Given the description of an element on the screen output the (x, y) to click on. 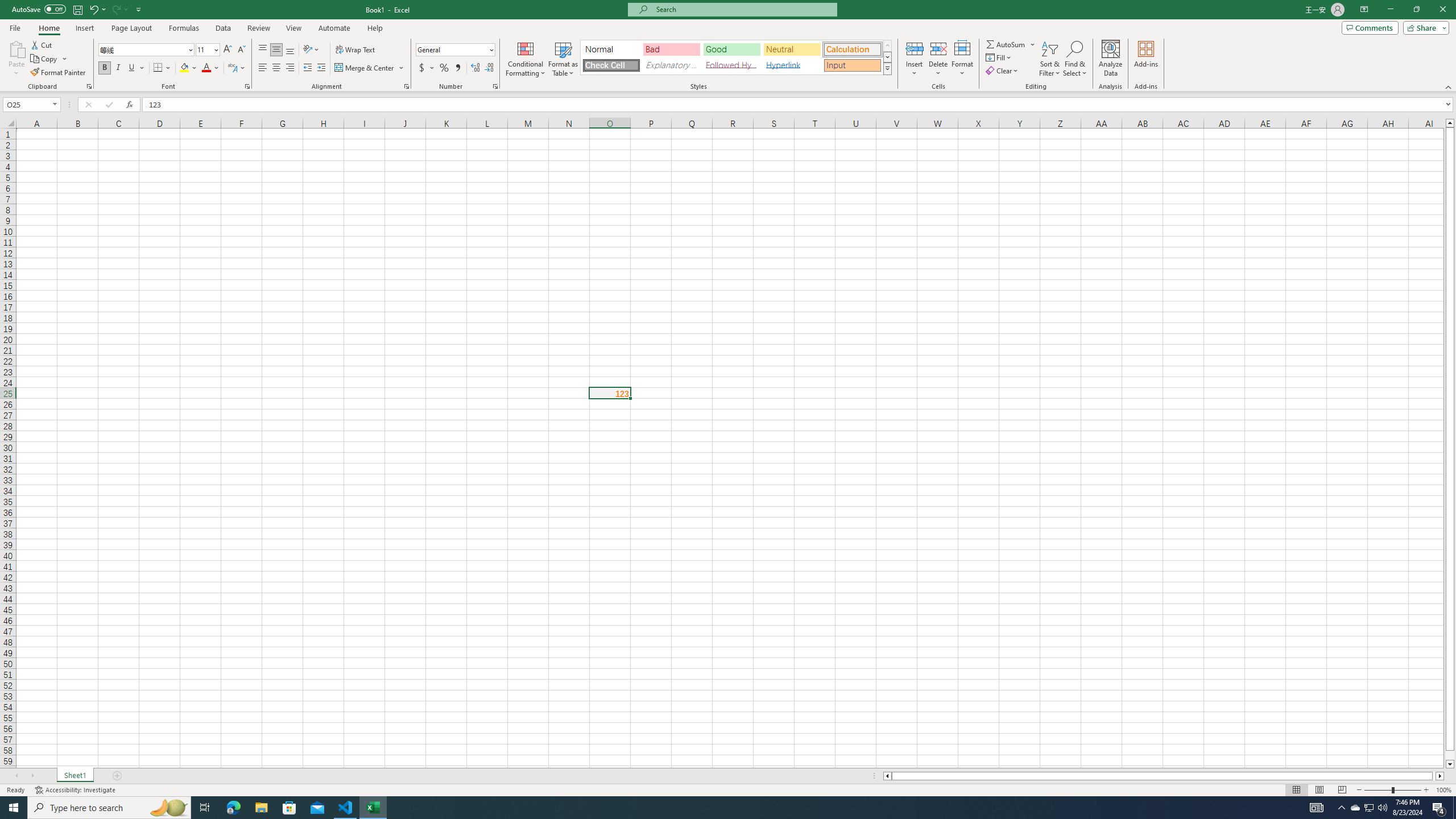
Font Size (204, 49)
Followed Hyperlink (731, 65)
Bold (104, 67)
Copy (45, 58)
Calculation (852, 49)
Borders (162, 67)
Middle Align (276, 49)
Conditional Formatting (525, 58)
Wrap Text (355, 49)
